Given the description of an element on the screen output the (x, y) to click on. 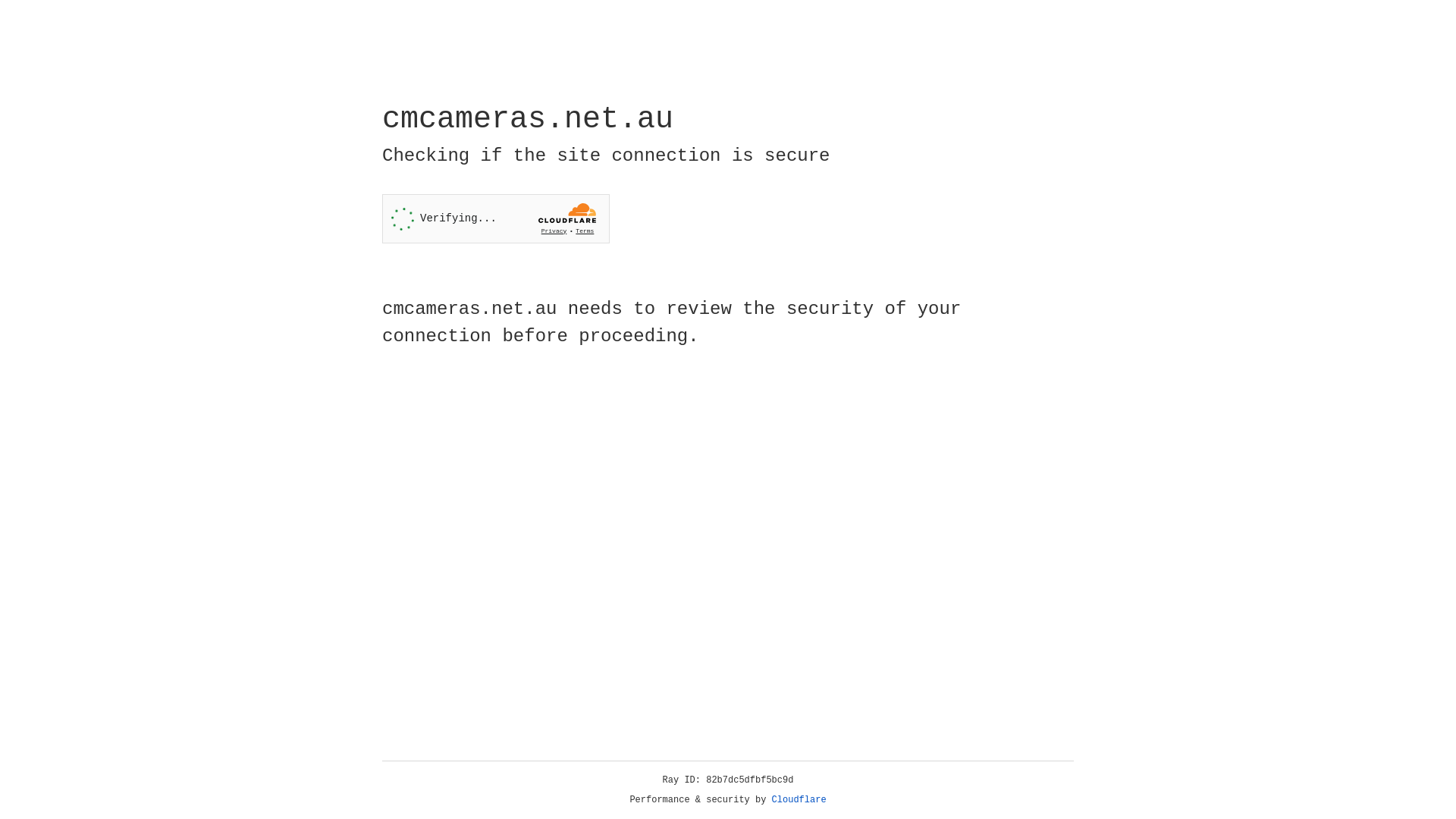
Cloudflare Element type: text (798, 799)
Widget containing a Cloudflare security challenge Element type: hover (495, 218)
